Given the description of an element on the screen output the (x, y) to click on. 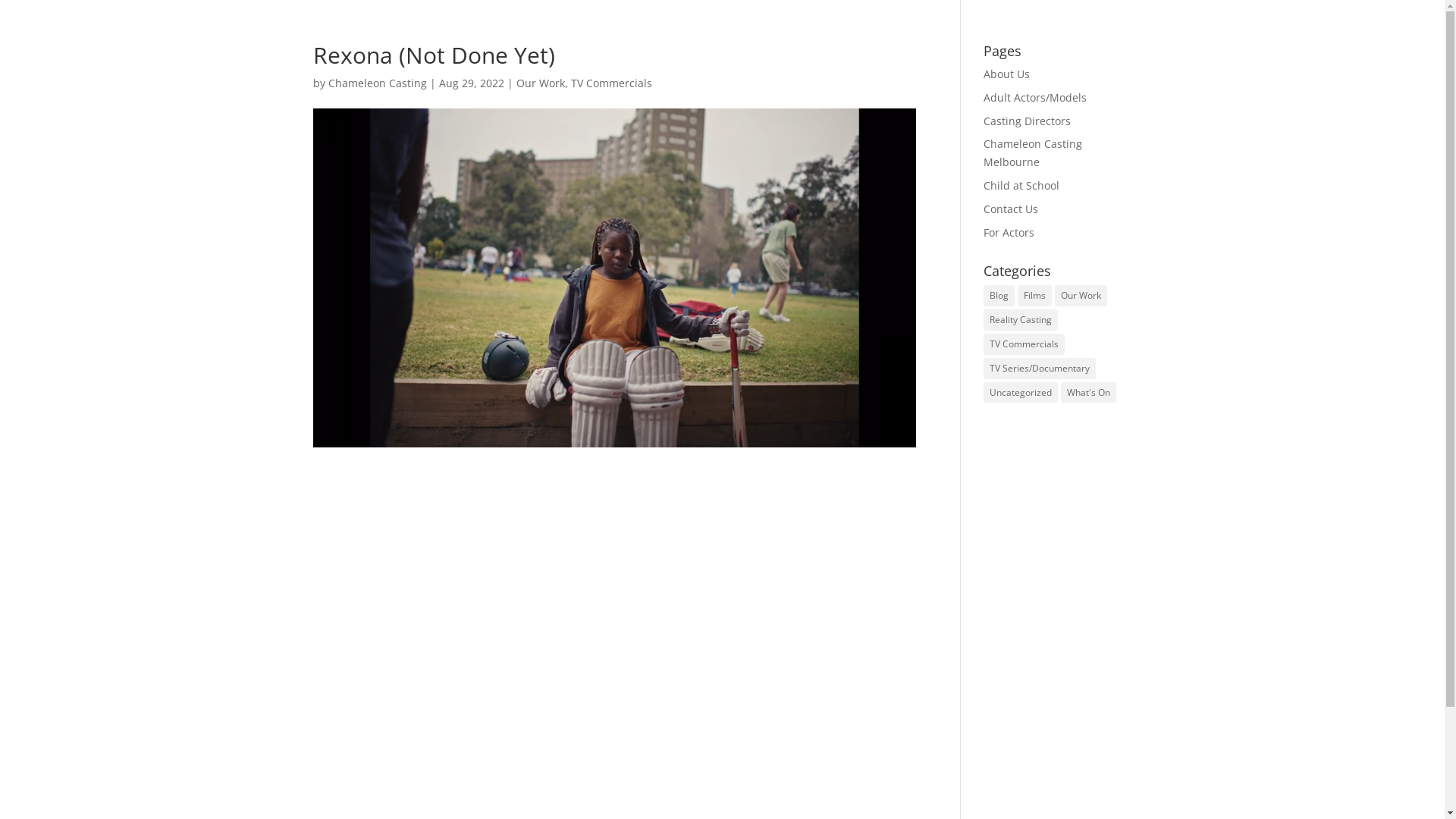
Reality Casting Element type: text (1020, 319)
TV Commercials Element type: text (1023, 343)
TV Commercials Element type: text (610, 82)
Chameleon Casting - Rexona Not Done Yet Element type: hover (613, 645)
Chameleon Casting Melbourne Element type: text (1032, 152)
About Us Element type: text (1006, 73)
Our Work Element type: text (1080, 295)
Our Work Element type: text (539, 82)
Child at School Element type: text (1021, 185)
Films Element type: text (1034, 295)
Contact Us Element type: text (1010, 208)
Adult Actors/Models Element type: text (1034, 97)
For Actors Element type: text (1008, 232)
TV Series/Documentary Element type: text (1039, 368)
Uncategorized Element type: text (1020, 392)
Chameleon Casting Element type: text (376, 82)
What's On Element type: text (1088, 392)
Casting Directors Element type: text (1026, 120)
Blog Element type: text (998, 295)
